Given the description of an element on the screen output the (x, y) to click on. 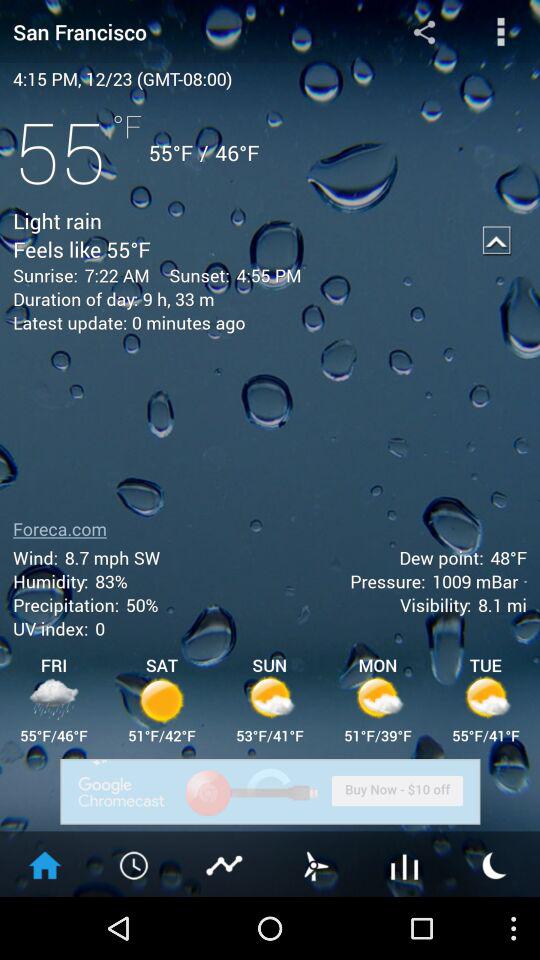
swipe to the foreca.com icon (59, 528)
